Given the description of an element on the screen output the (x, y) to click on. 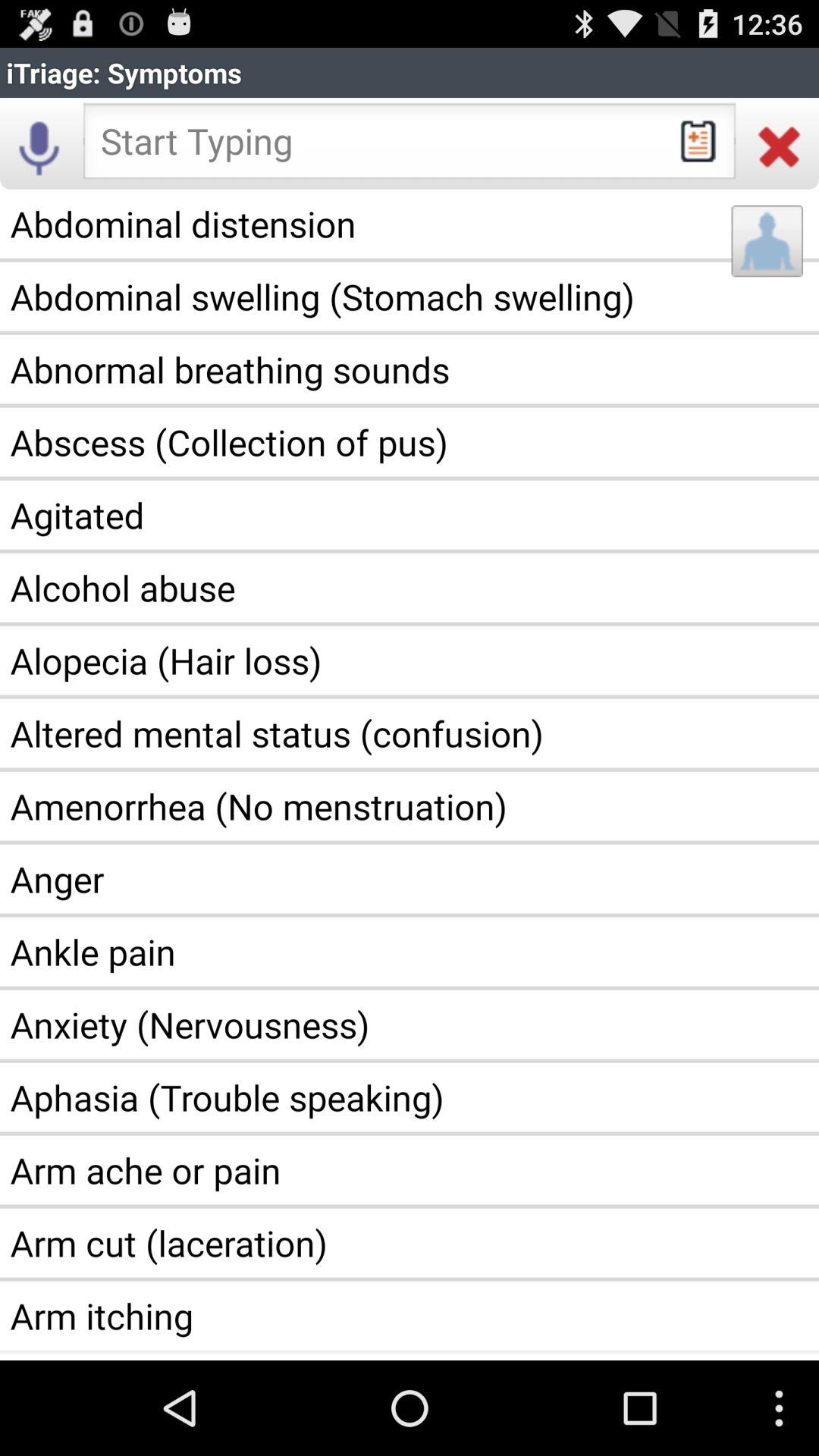
turn on the icon below the arm cut (laceration) icon (409, 1315)
